Given the description of an element on the screen output the (x, y) to click on. 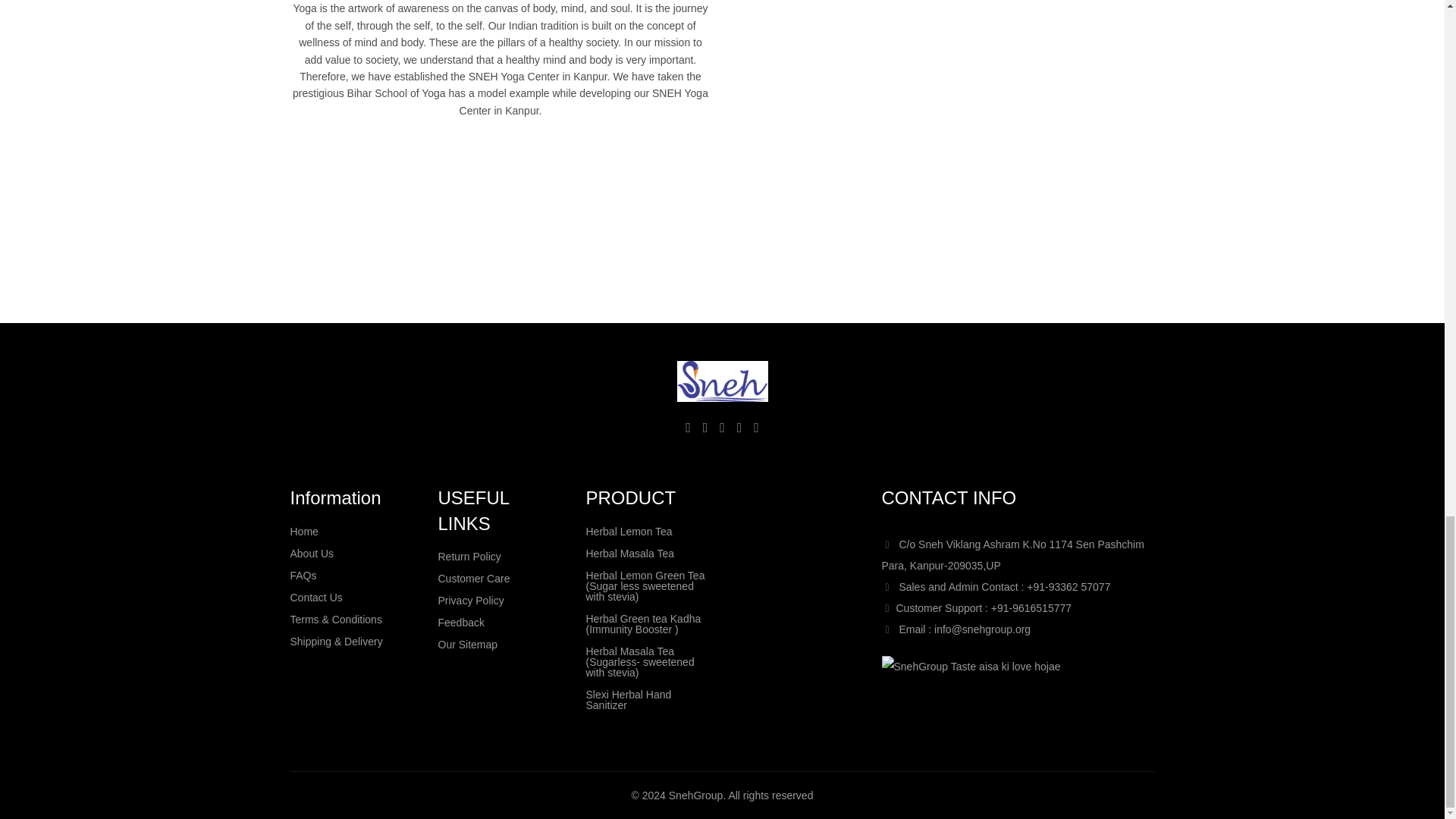
SnehGroup (969, 666)
Home (303, 531)
SnehGroup (722, 381)
people-exercising-inside-brown-painted-room-892677 (943, 120)
